Given the description of an element on the screen output the (x, y) to click on. 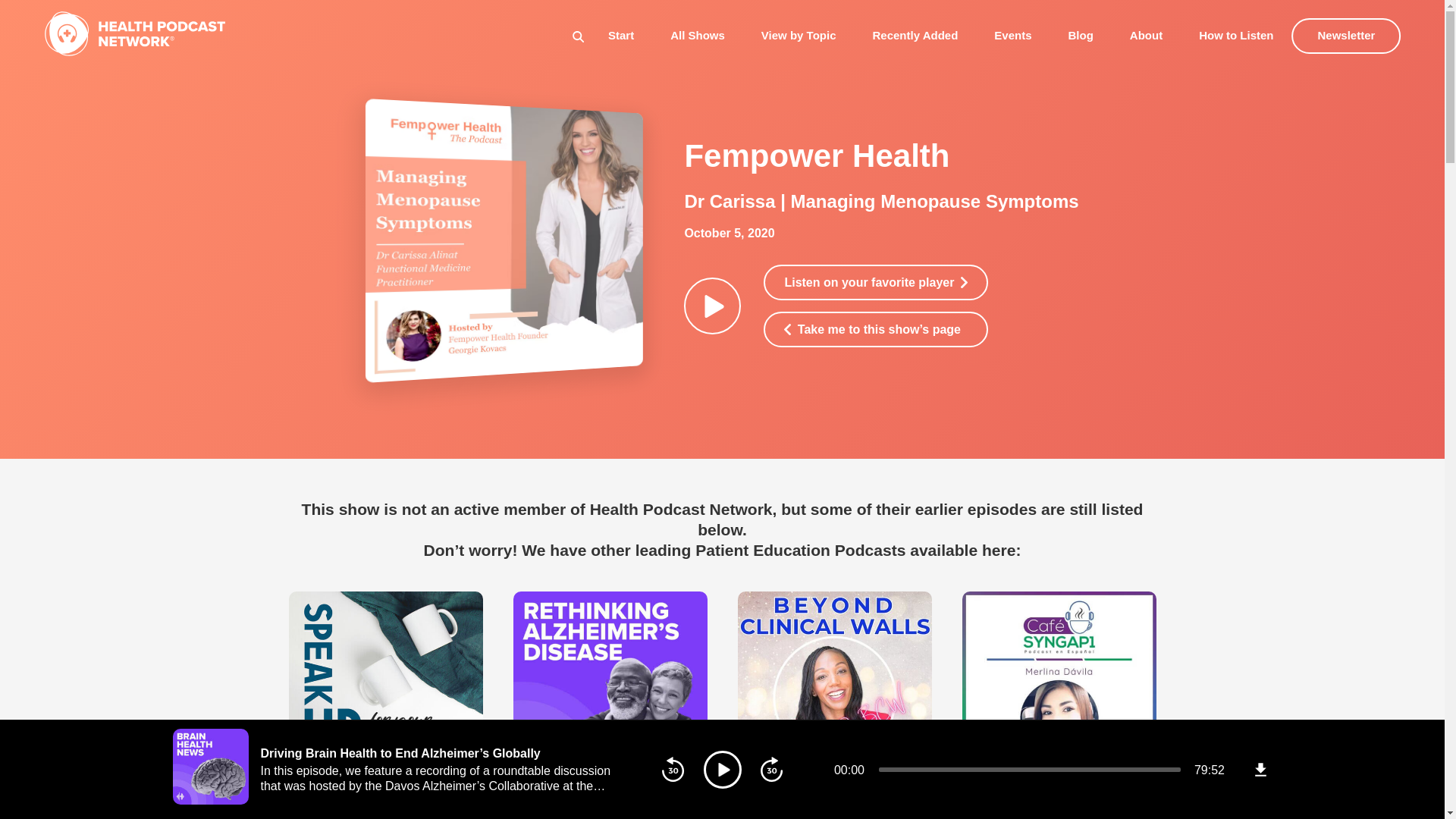
About (1145, 34)
Blog (1080, 34)
Recently Added (915, 34)
How to Listen (1235, 34)
Start (620, 34)
All Shows (697, 34)
View by Topic (798, 34)
Listen on your favorite player (875, 282)
Events (1012, 34)
Newsletter (1346, 36)
